Given the description of an element on the screen output the (x, y) to click on. 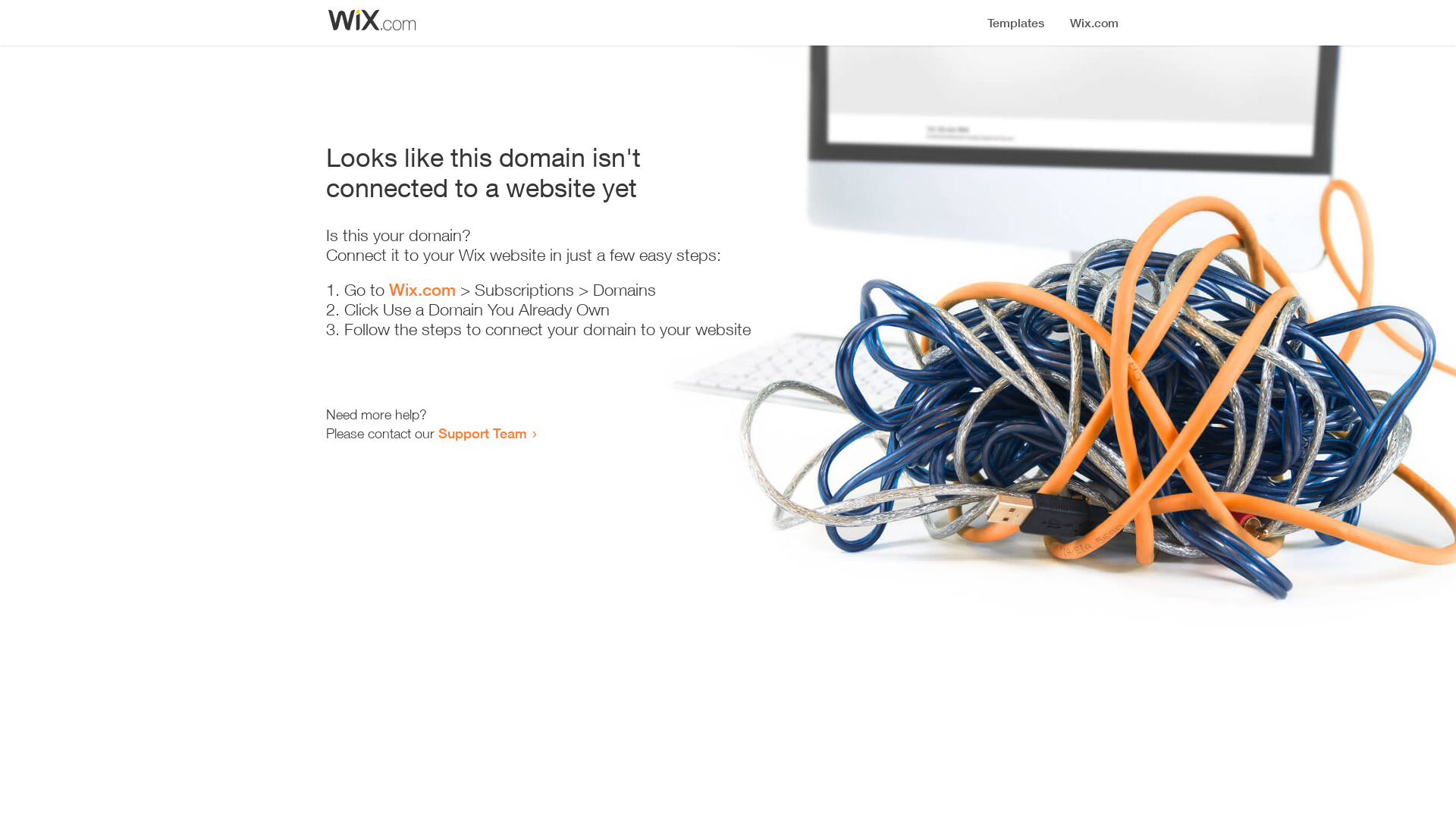
Support Team Element type: text (482, 432)
Wix.com Element type: text (422, 289)
